Given the description of an element on the screen output the (x, y) to click on. 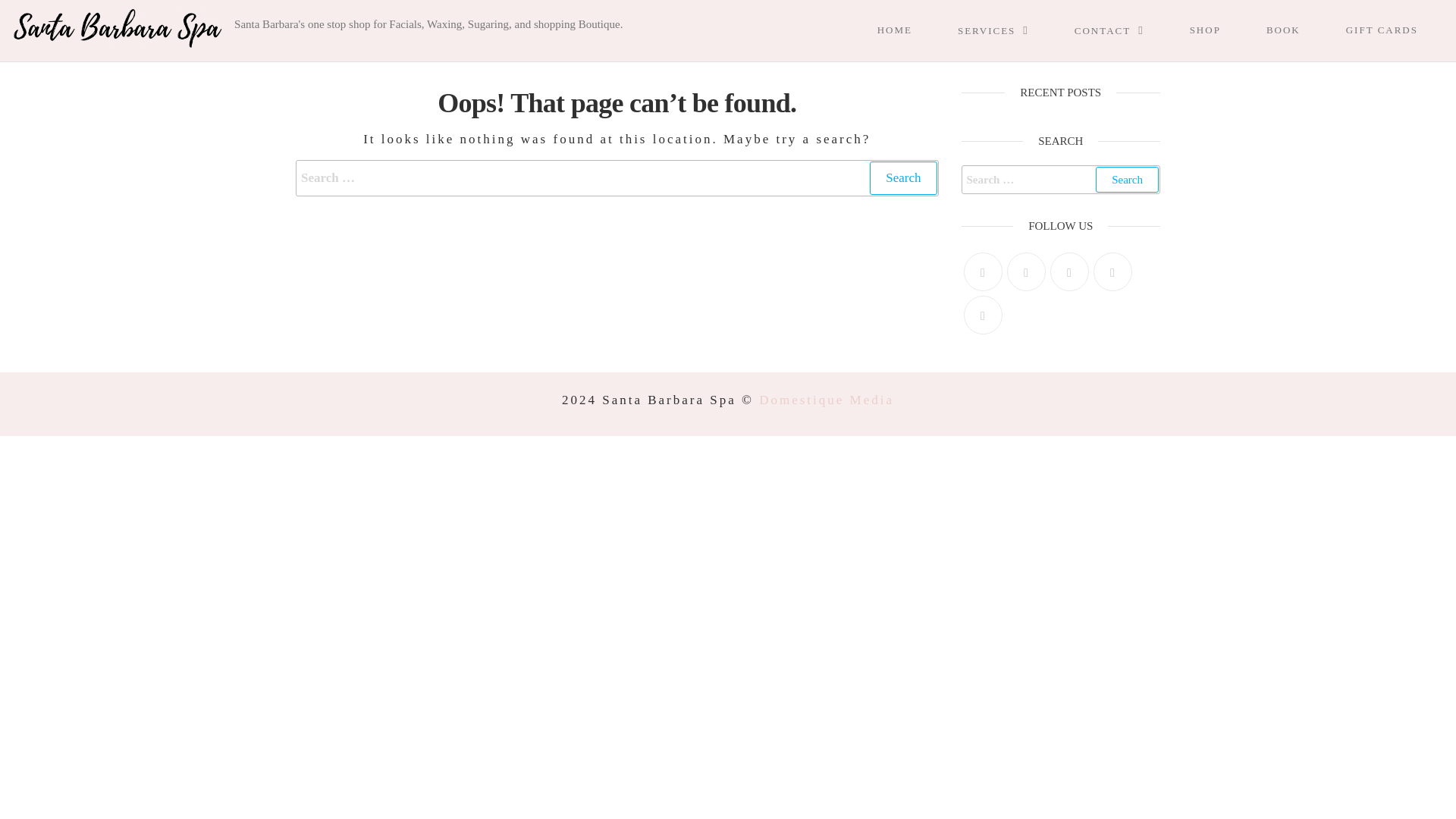
Search (902, 177)
Shop (1220, 30)
Search (902, 177)
Book (1298, 30)
SHOP (1220, 30)
Contact (1124, 30)
Home (909, 30)
HOME (909, 30)
SANTA BARBARA SPA (345, 27)
Services (1008, 30)
Pinterest (1068, 271)
BOOK (1298, 30)
Facebook (1026, 271)
Domestique Media (825, 400)
Search (1127, 179)
